Given the description of an element on the screen output the (x, y) to click on. 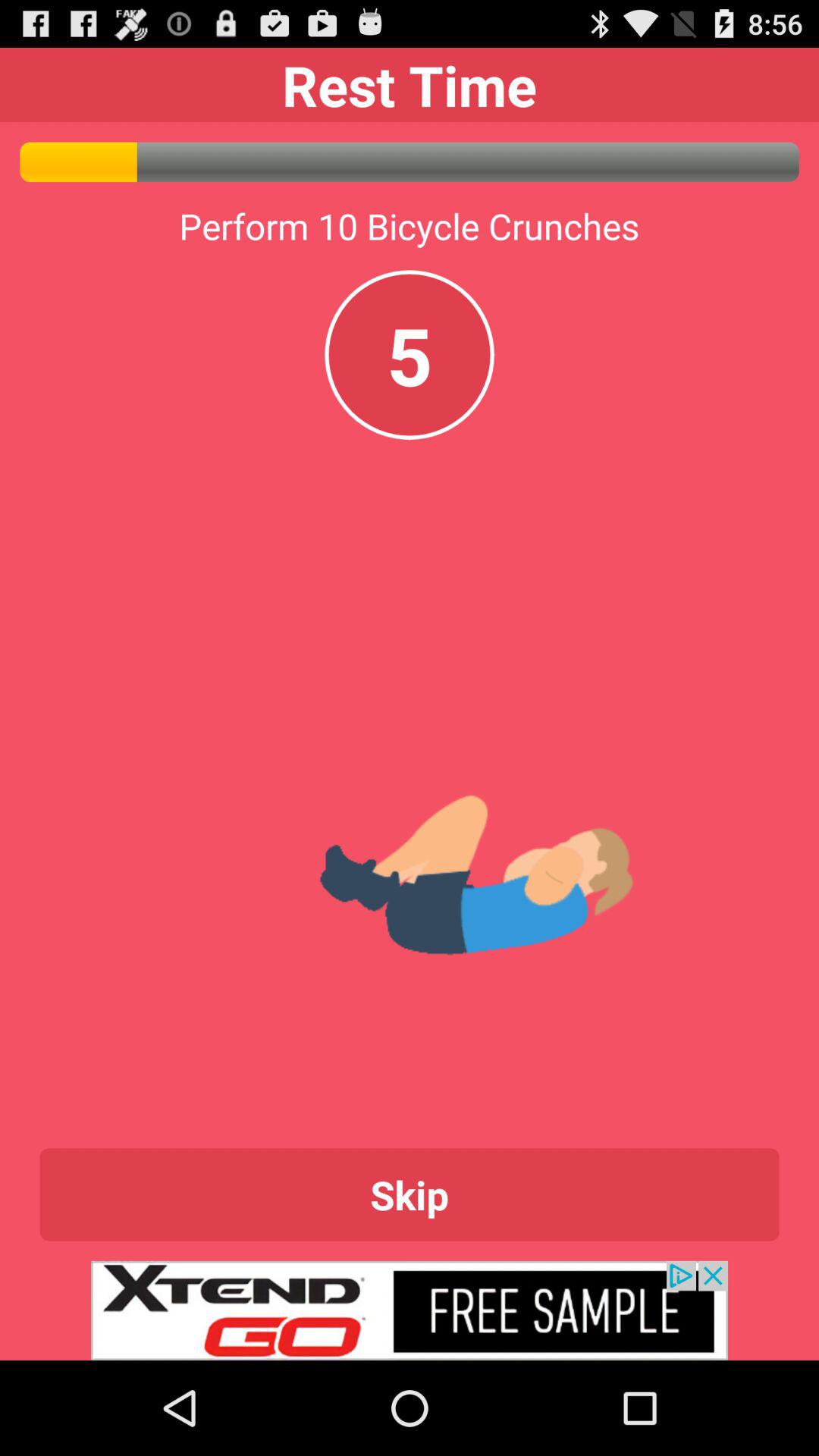
advertisement (409, 1310)
